Given the description of an element on the screen output the (x, y) to click on. 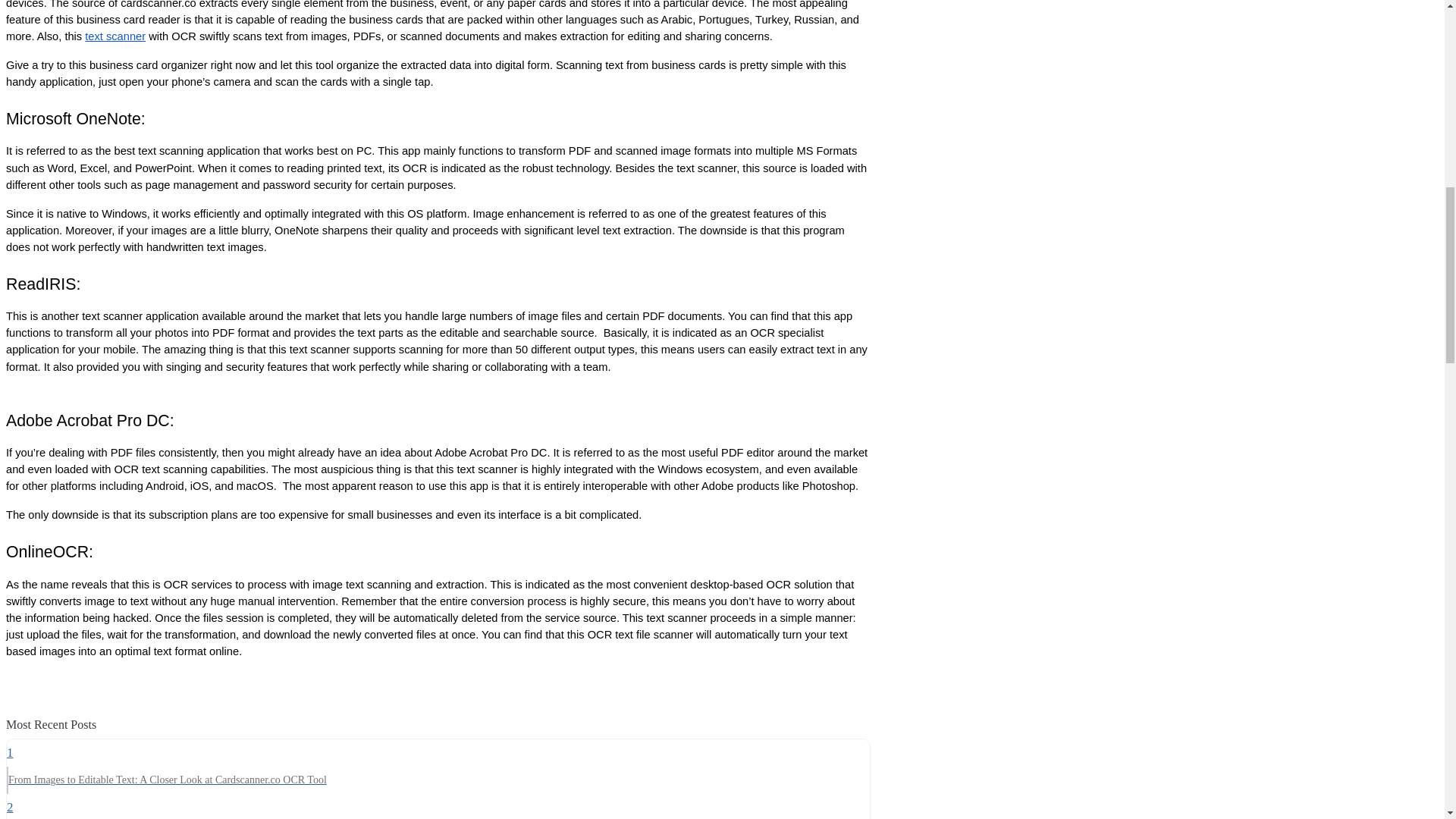
text scanner (114, 35)
